Given the description of an element on the screen output the (x, y) to click on. 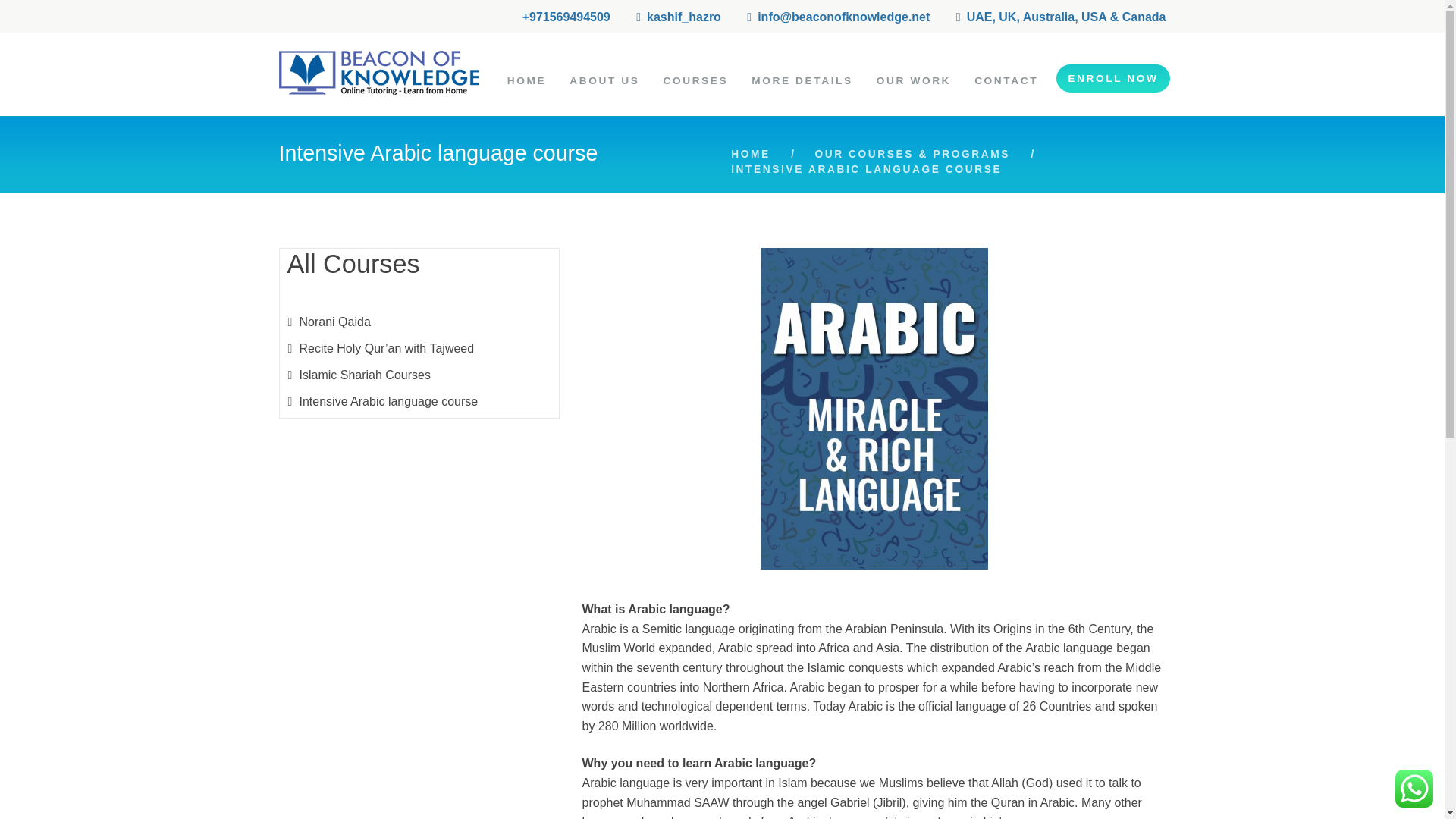
OUR WORK (913, 80)
Intensive Arabic language course (387, 400)
CONTACT (1006, 80)
MORE DETAILS (802, 80)
COURSES (695, 80)
Islamic Shariah Courses (363, 374)
Norani Qaida (333, 321)
ENROLL NOW (1113, 78)
HOME (526, 80)
HOME (750, 154)
ABOUT US (604, 80)
